Given the description of an element on the screen output the (x, y) to click on. 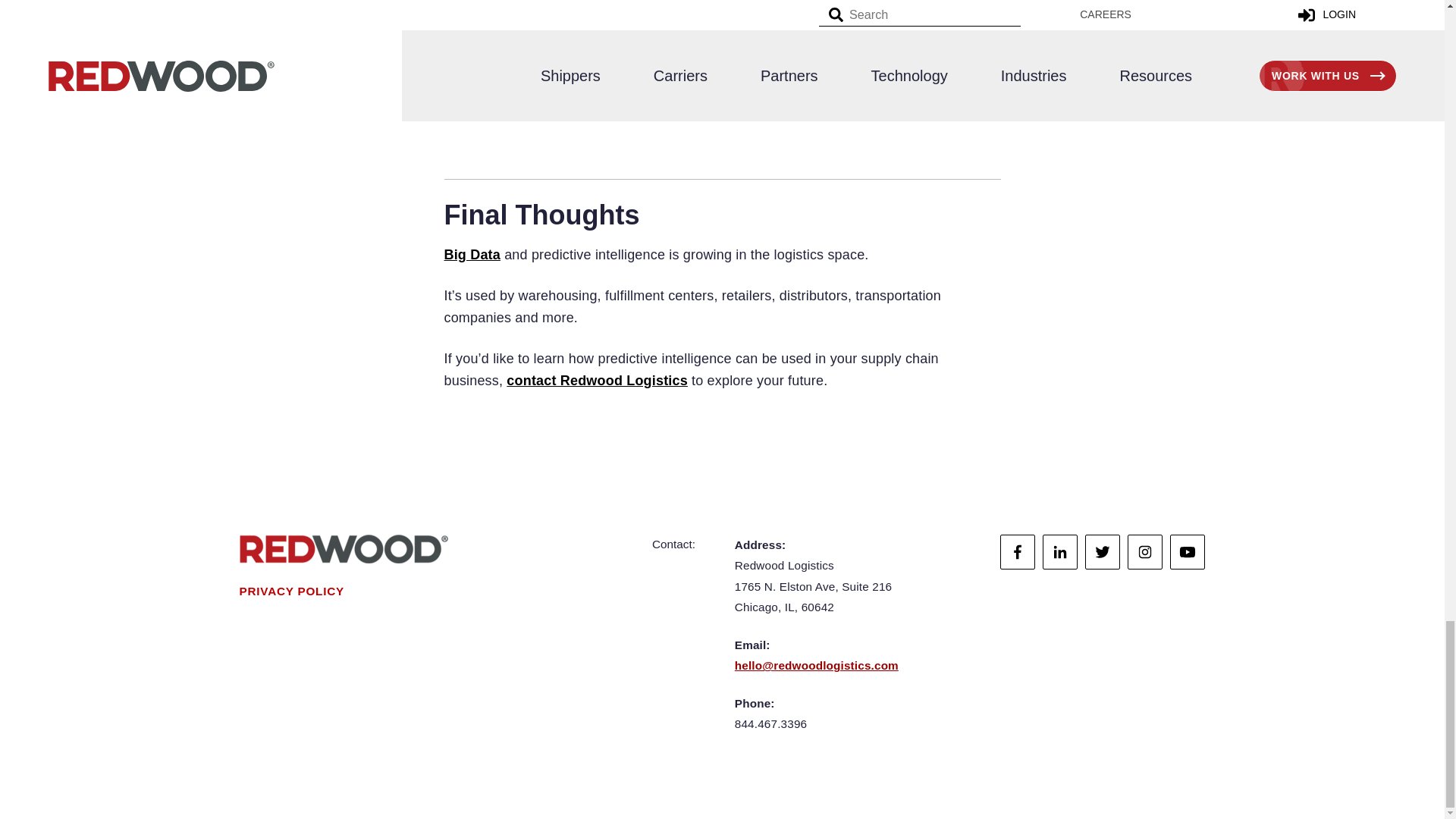
Instagram (1143, 551)
redwood-wordmark-full-color (344, 548)
Linkedin (1059, 551)
Facebook (1017, 551)
YouTube (1187, 551)
Twitter (1101, 551)
